Given the description of an element on the screen output the (x, y) to click on. 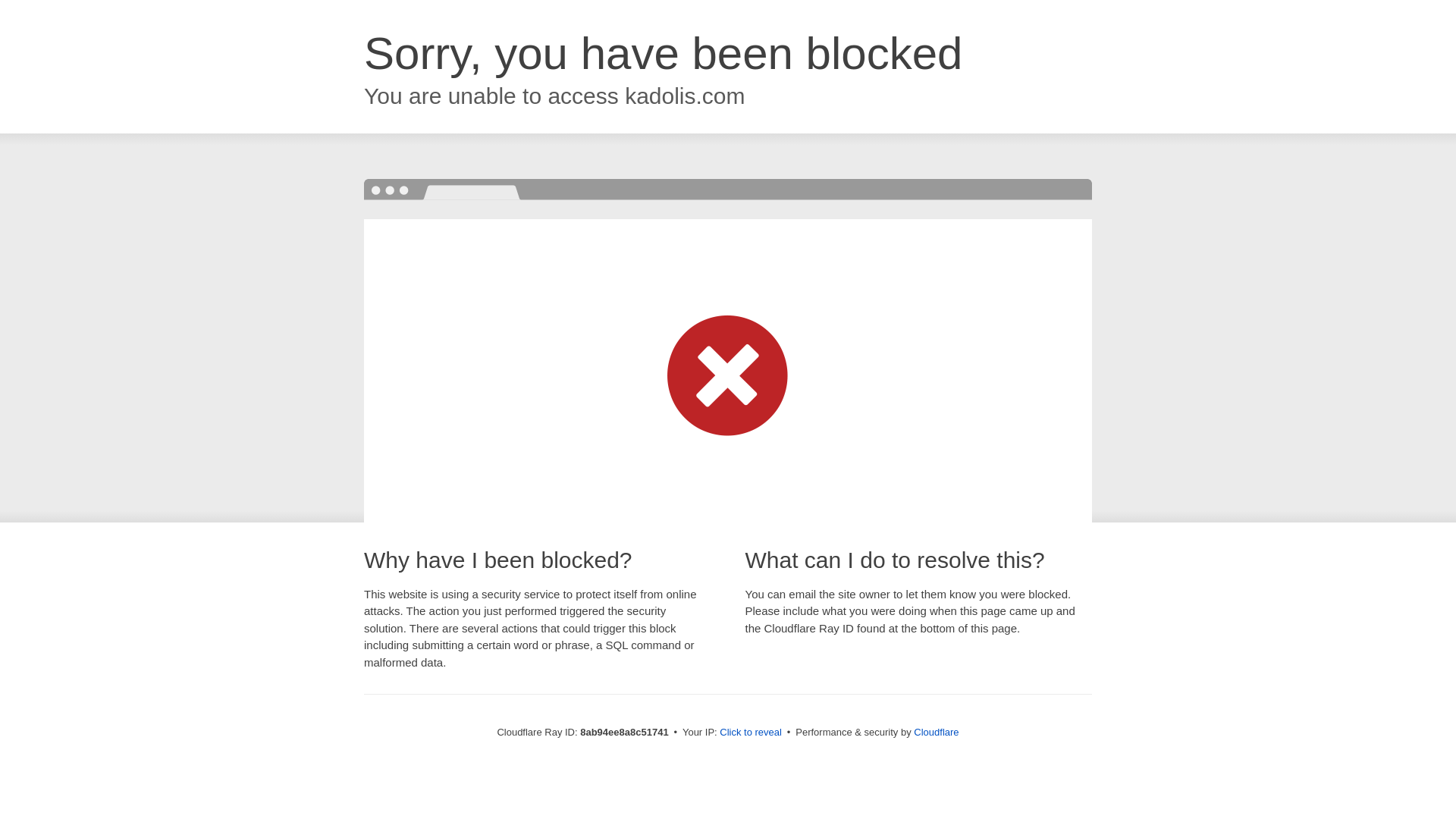
Cloudflare (936, 731)
Click to reveal (750, 732)
